Given the description of an element on the screen output the (x, y) to click on. 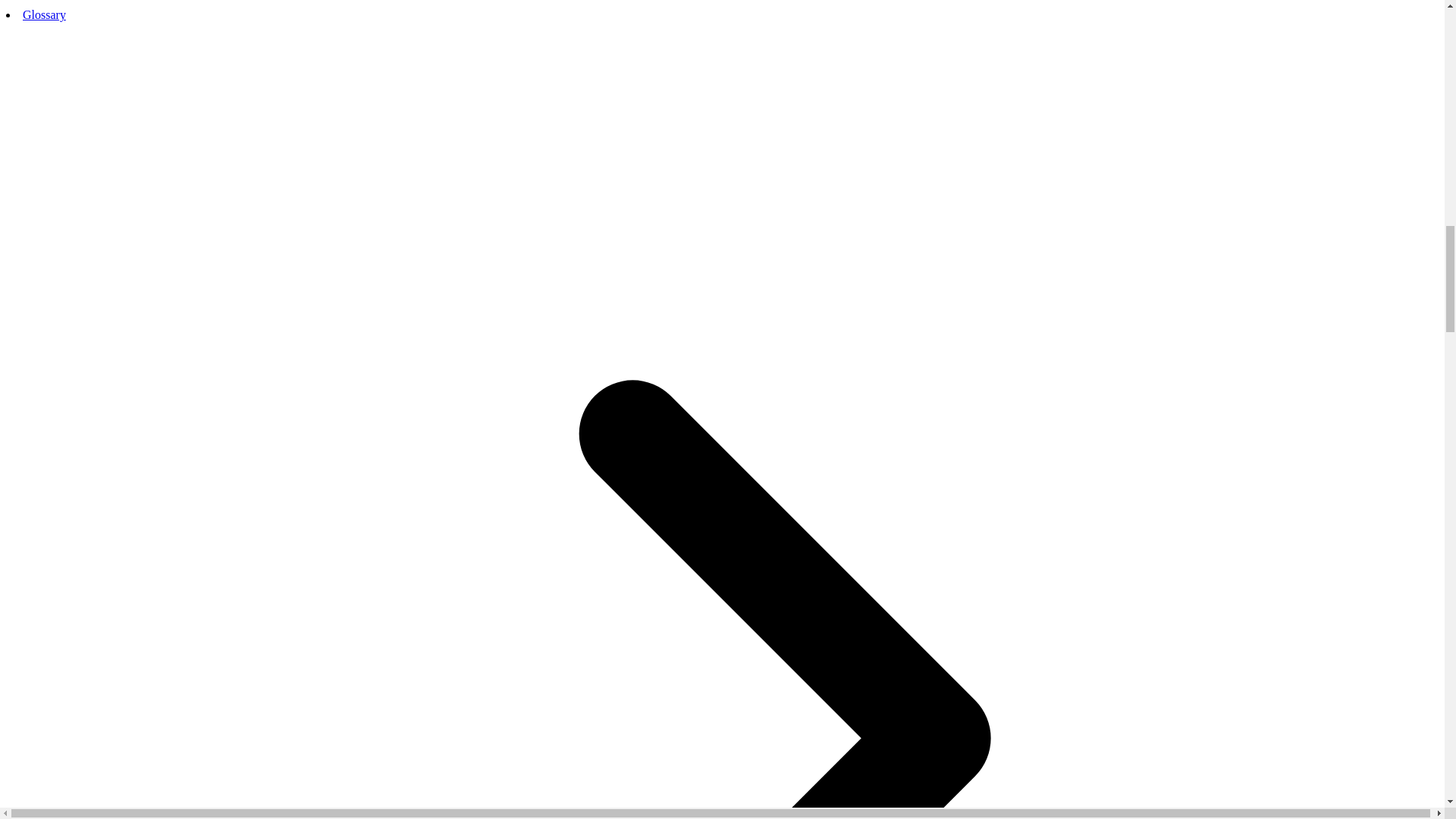
Glossary (44, 14)
